Given the description of an element on the screen output the (x, y) to click on. 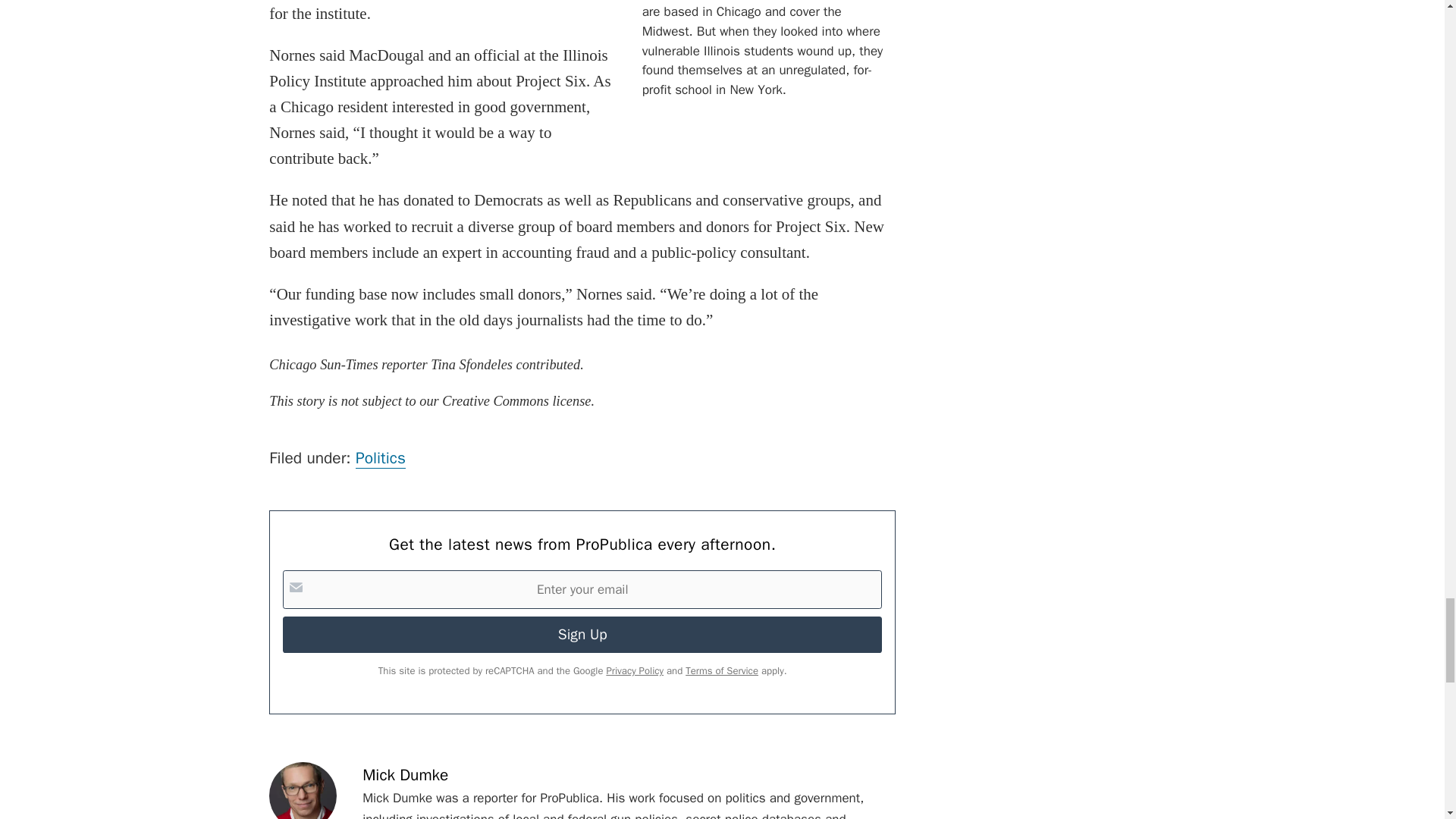
Sign Up (582, 634)
Privacy Policy (634, 670)
Politics (380, 457)
Sign Up (582, 634)
Terms of Service (721, 670)
